Given the description of an element on the screen output the (x, y) to click on. 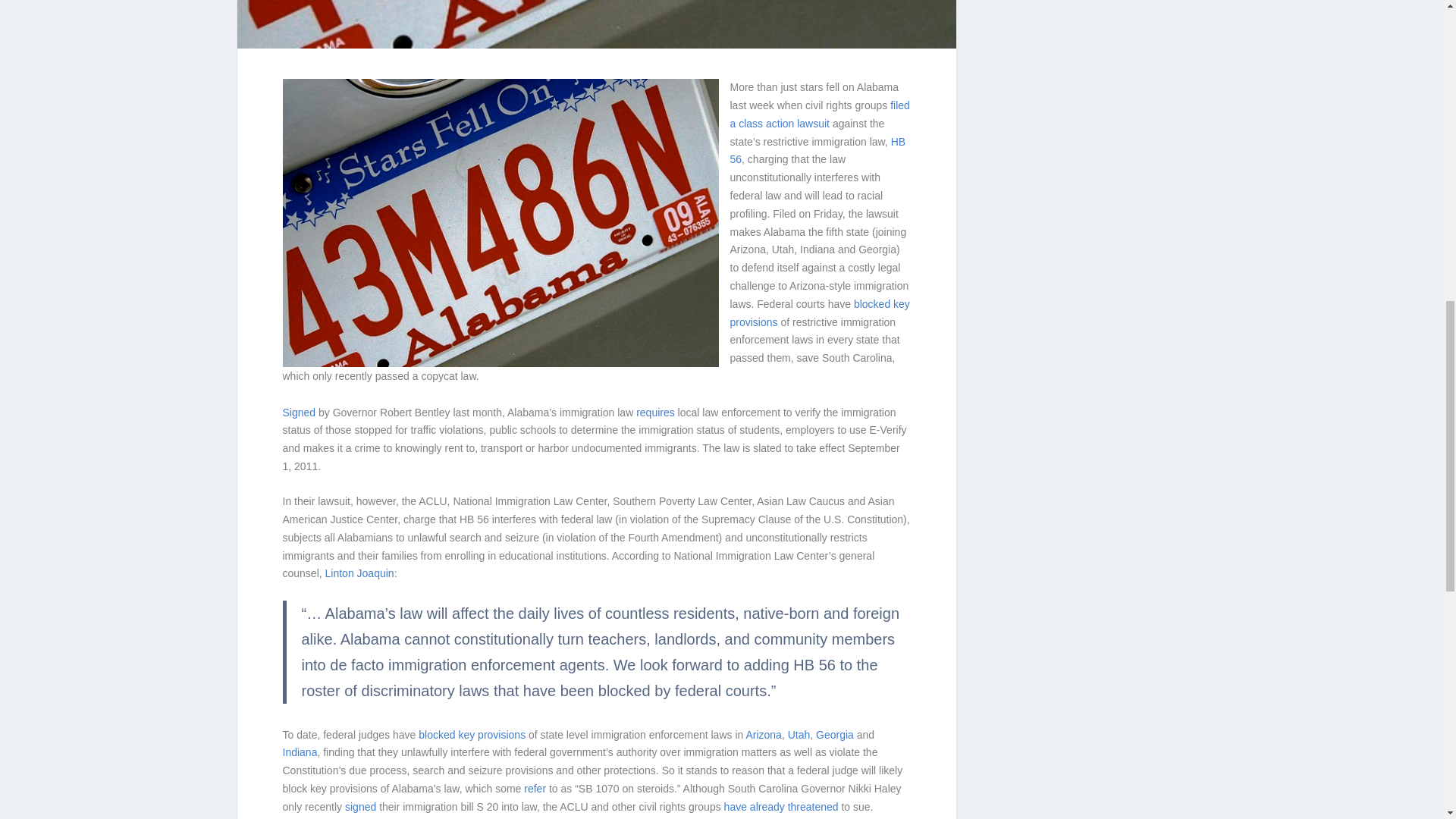
blocked key provisions (818, 313)
filed a class action lawsuit (818, 114)
Signed (298, 412)
HB 56 (817, 150)
